Given the description of an element on the screen output the (x, y) to click on. 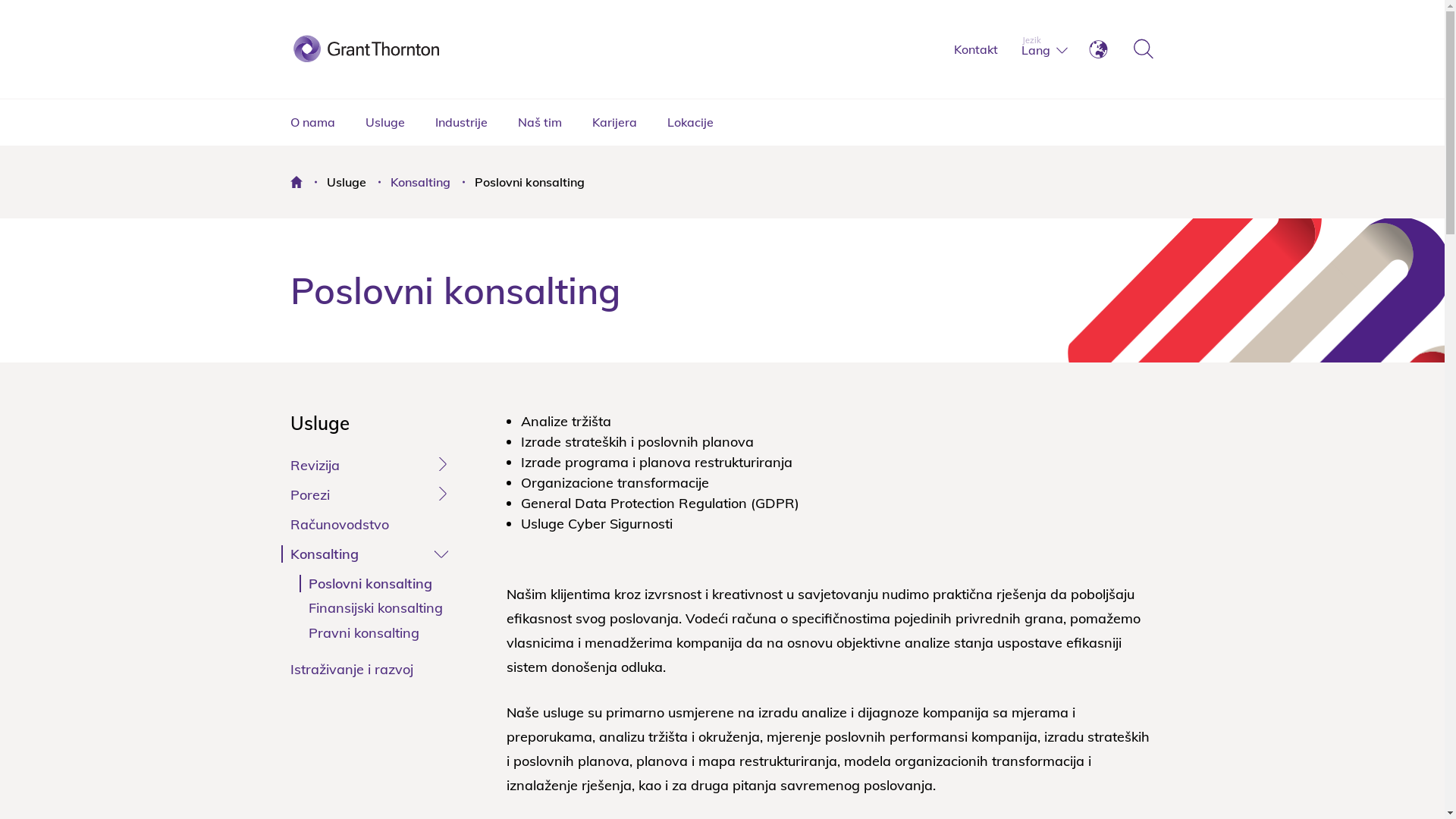
Industrije Element type: text (461, 121)
Karijera Element type: text (613, 121)
Publikacije Element type: text (410, 104)
Porezi Element type: text (309, 494)
Konsalting Element type: text (410, 73)
Revizija Element type: text (313, 464)
Usluge Element type: text (385, 121)
Konsalting Element type: text (419, 181)
Pravni konsalting Element type: text (362, 632)
Finansijski konsalting Element type: text (374, 607)
Grant Thornton Element type: text (410, 43)
Kontakt Element type: text (975, 49)
Lang Element type: text (1034, 48)
Lokacije Element type: text (690, 121)
O nama Element type: text (311, 121)
Poslovni konsalting Element type: text (369, 583)
Konsalting Element type: text (323, 553)
